Given the description of an element on the screen output the (x, y) to click on. 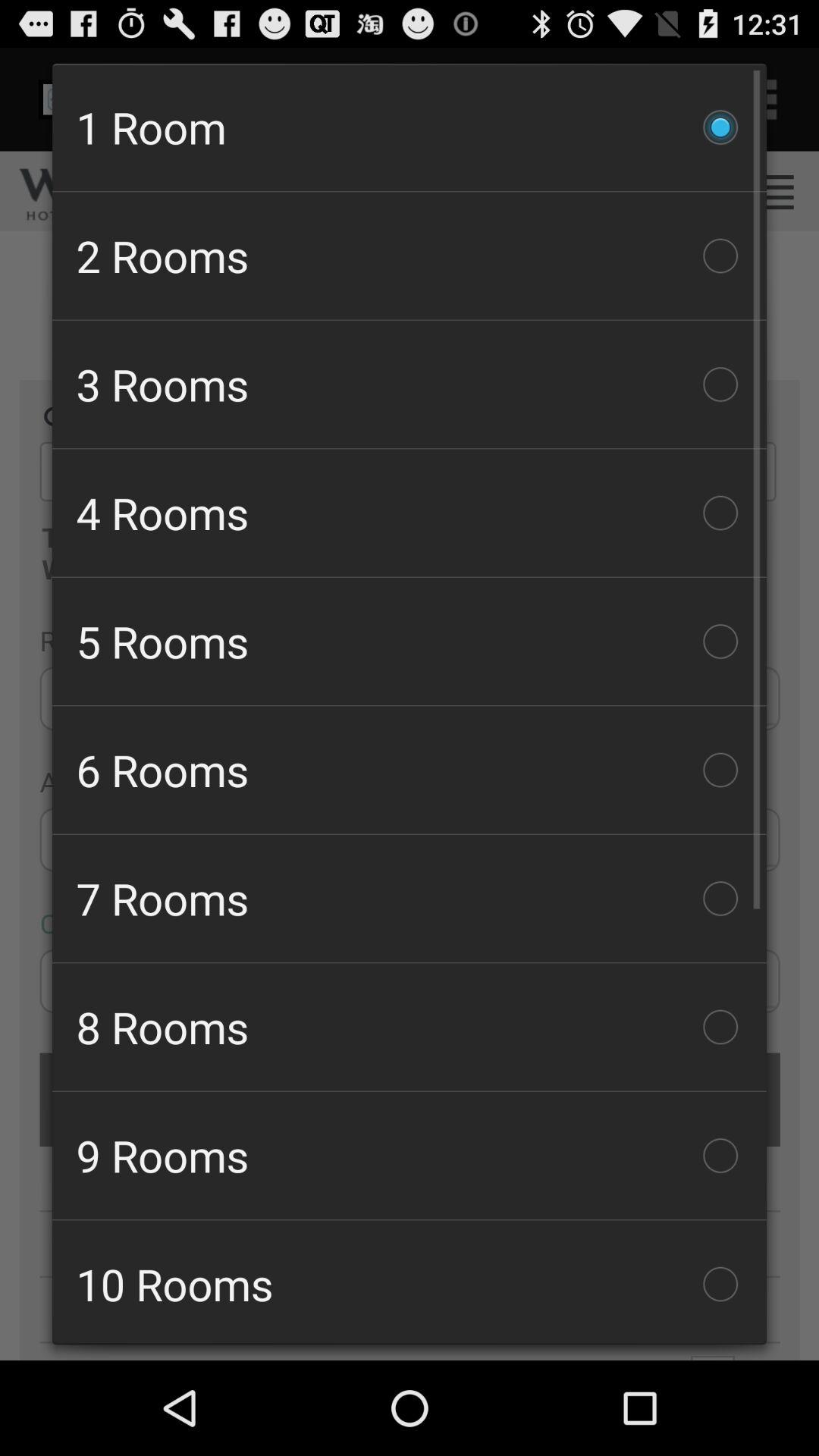
select checkbox below 4 rooms icon (409, 641)
